Given the description of an element on the screen output the (x, y) to click on. 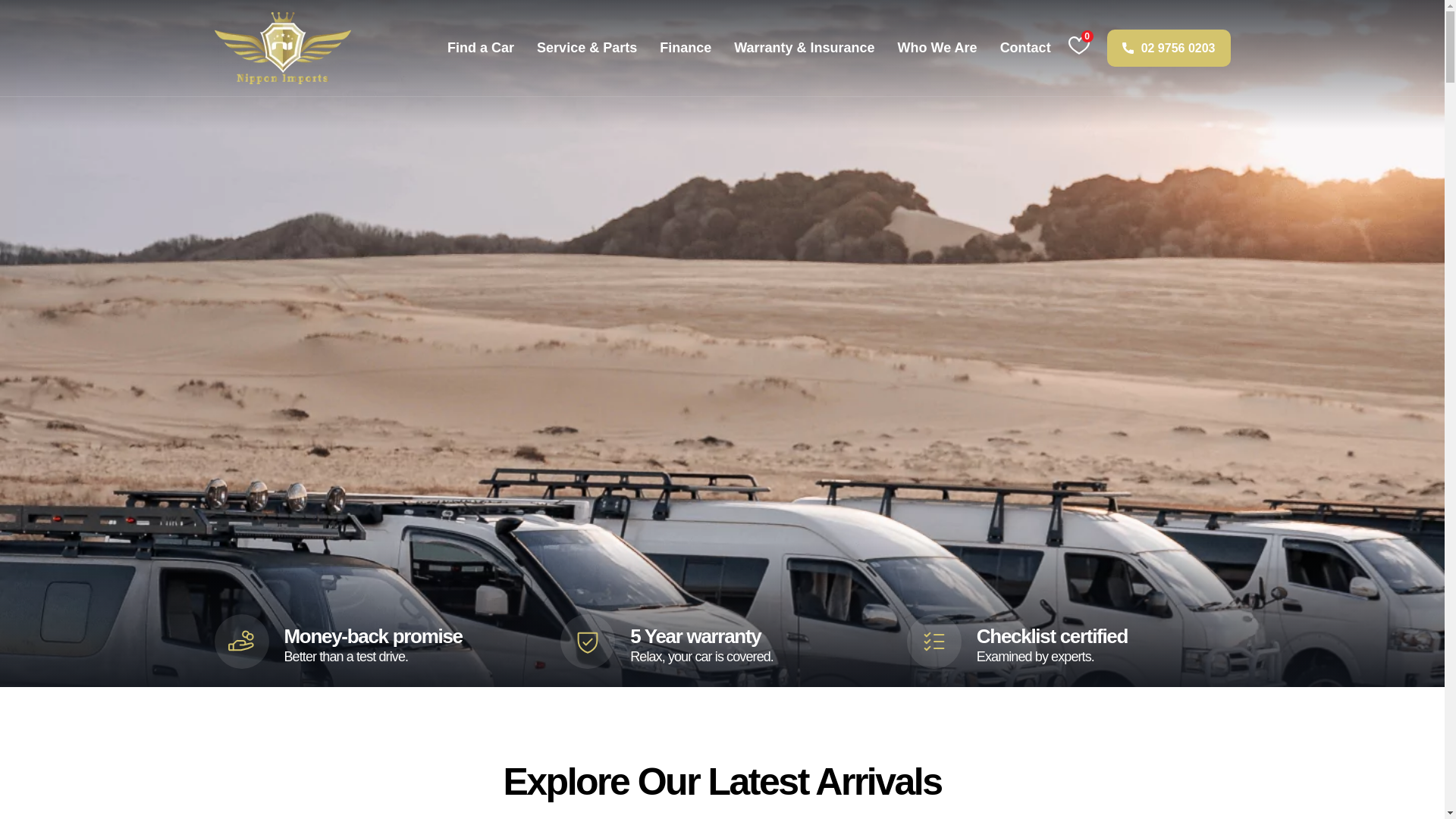
Nippon Imports (282, 48)
02 9756 0203 (1168, 47)
0 (1078, 45)
